Given the description of an element on the screen output the (x, y) to click on. 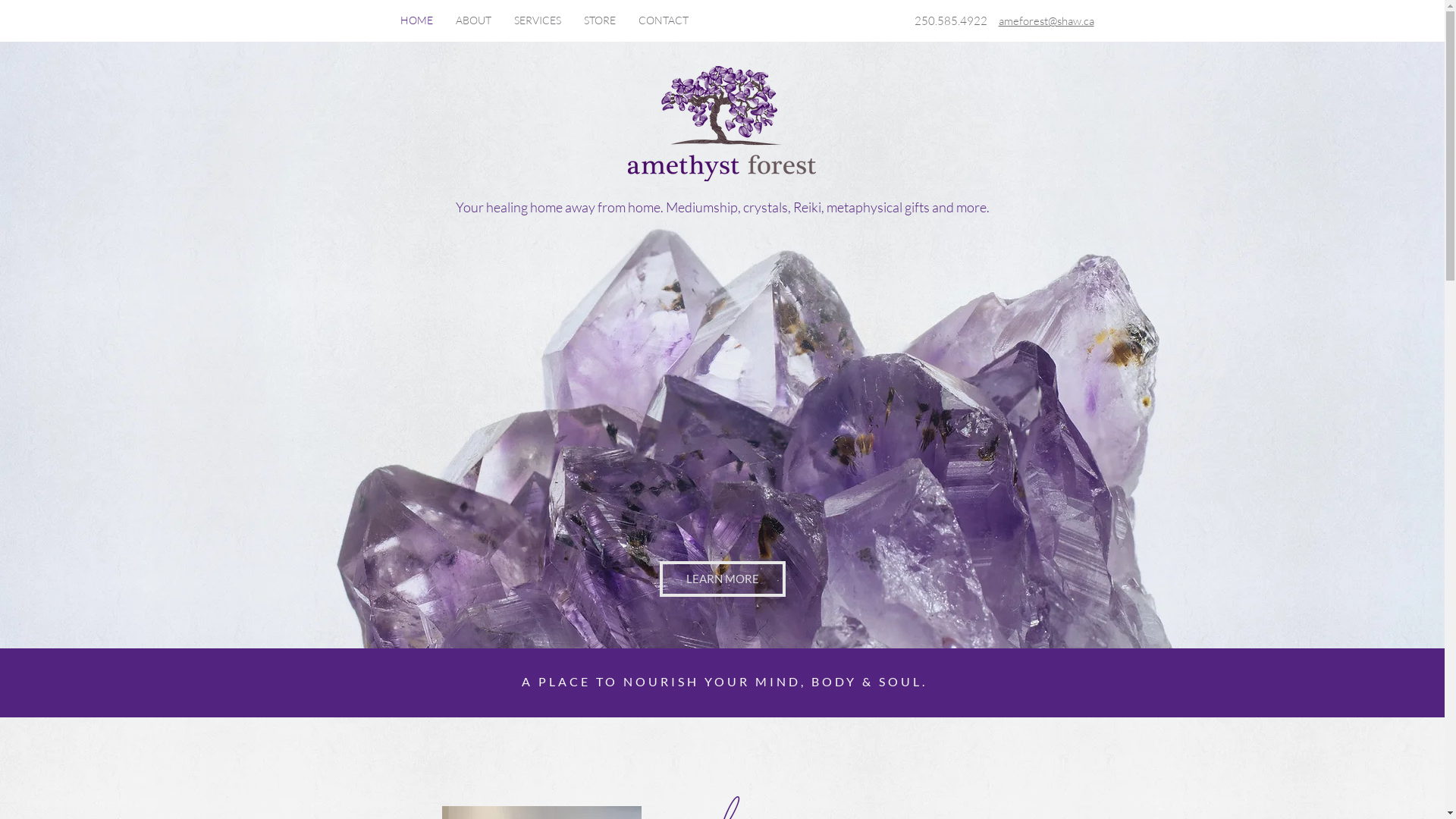
SERVICES Element type: text (537, 19)
CONTACT Element type: text (663, 19)
HOME Element type: text (416, 19)
ABOUT Element type: text (473, 19)
LEARN MORE Element type: text (722, 578)
STORE Element type: text (599, 19)
ameforest@shaw.ca Element type: text (1045, 20)
